Given the description of an element on the screen output the (x, y) to click on. 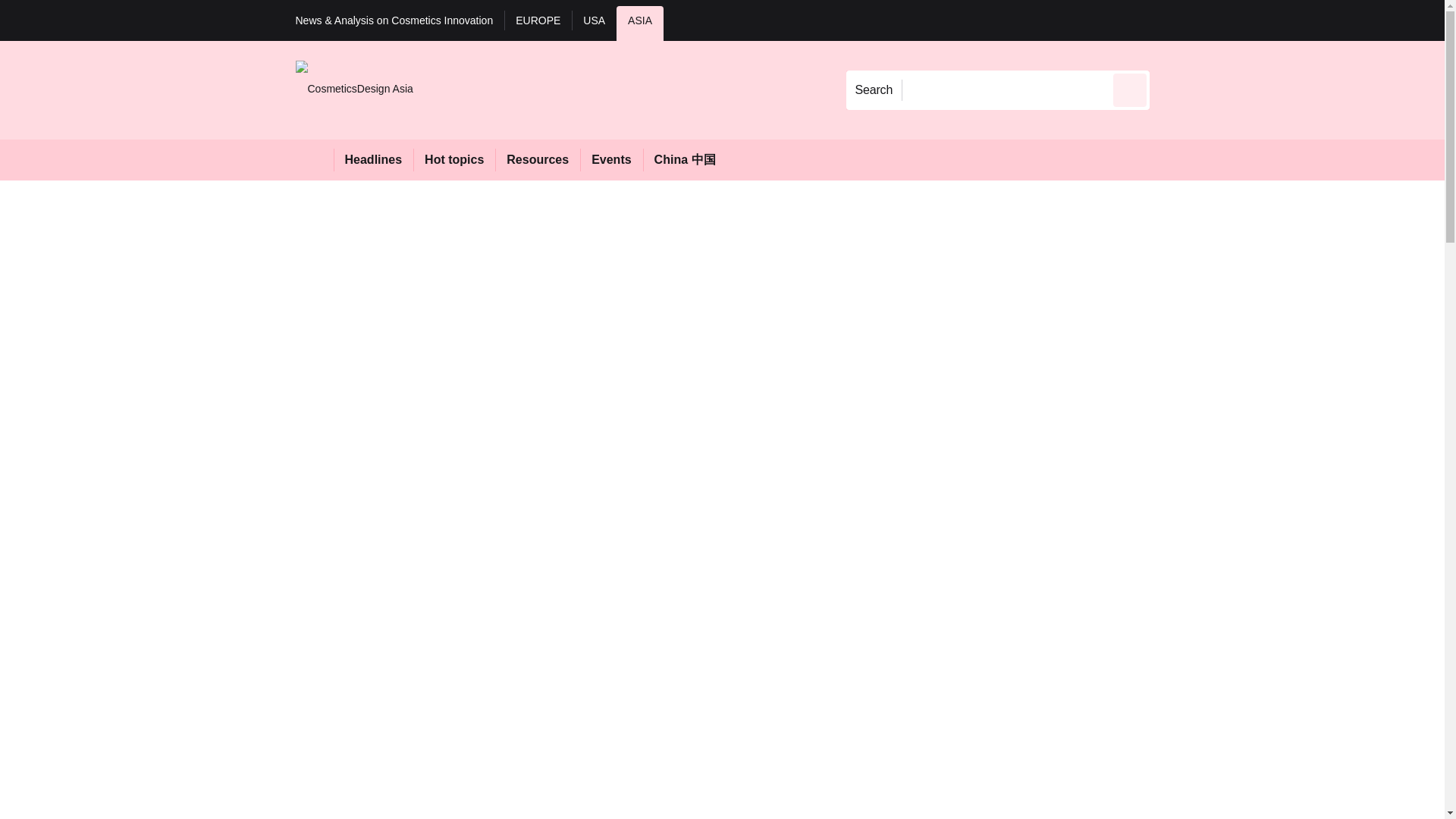
Send (1129, 90)
USA (593, 22)
Home (313, 159)
Headlines (373, 159)
Home (314, 159)
EUROPE (537, 22)
My account (1256, 20)
REGISTER (1250, 20)
Sign in (1171, 20)
ASIA (639, 22)
Send (1129, 89)
Sign out (1174, 20)
CosmeticsDesign Asia (354, 89)
Hot topics (454, 159)
